Given the description of an element on the screen output the (x, y) to click on. 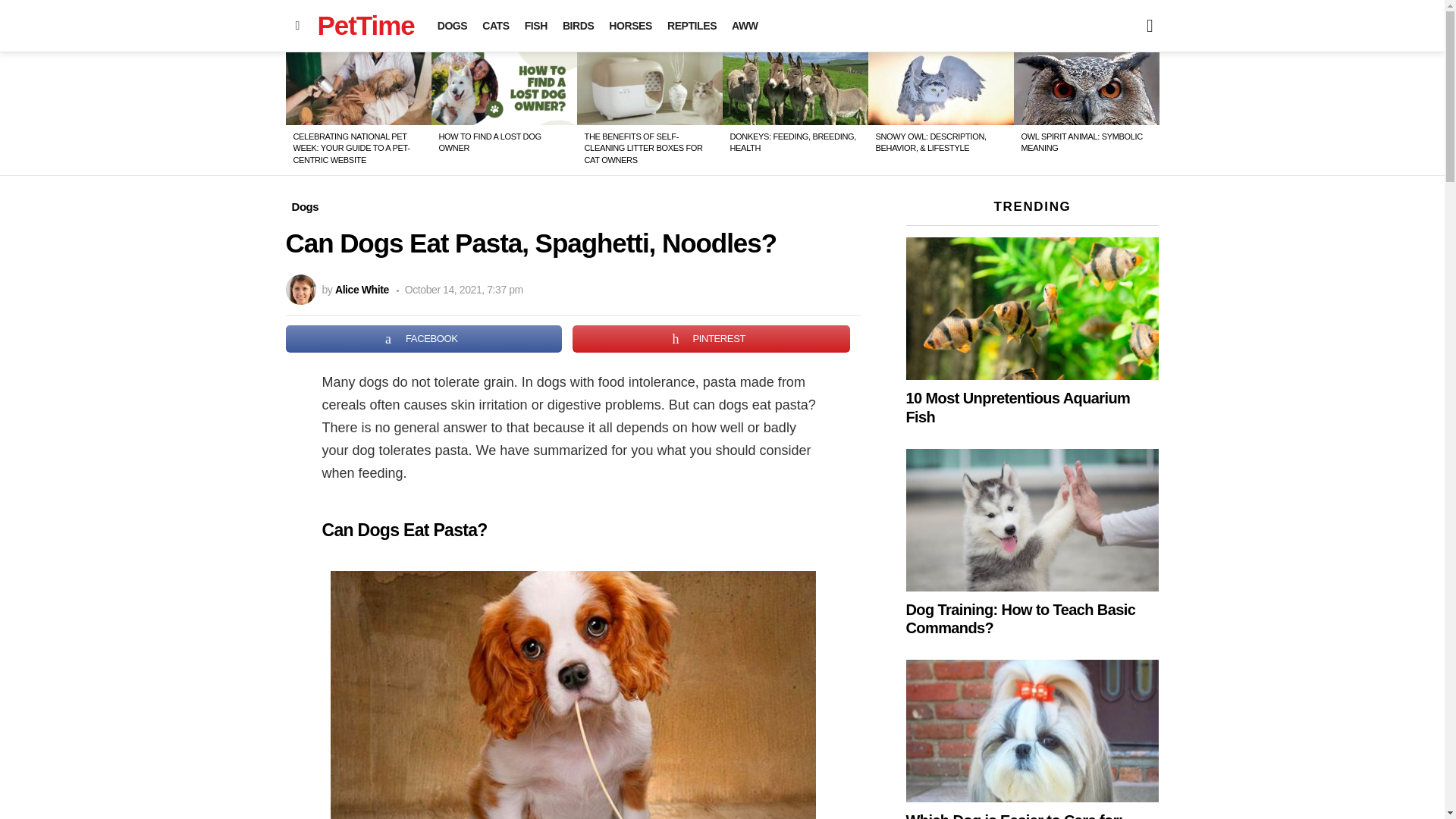
HORSES (630, 25)
Menu (296, 25)
BIRDS (577, 25)
FACEBOOK (422, 338)
DONKEYS: FEEDING, BREEDING, HEALTH (792, 141)
REPTILES (691, 25)
AWW (744, 25)
DOGS (452, 25)
